Given the description of an element on the screen output the (x, y) to click on. 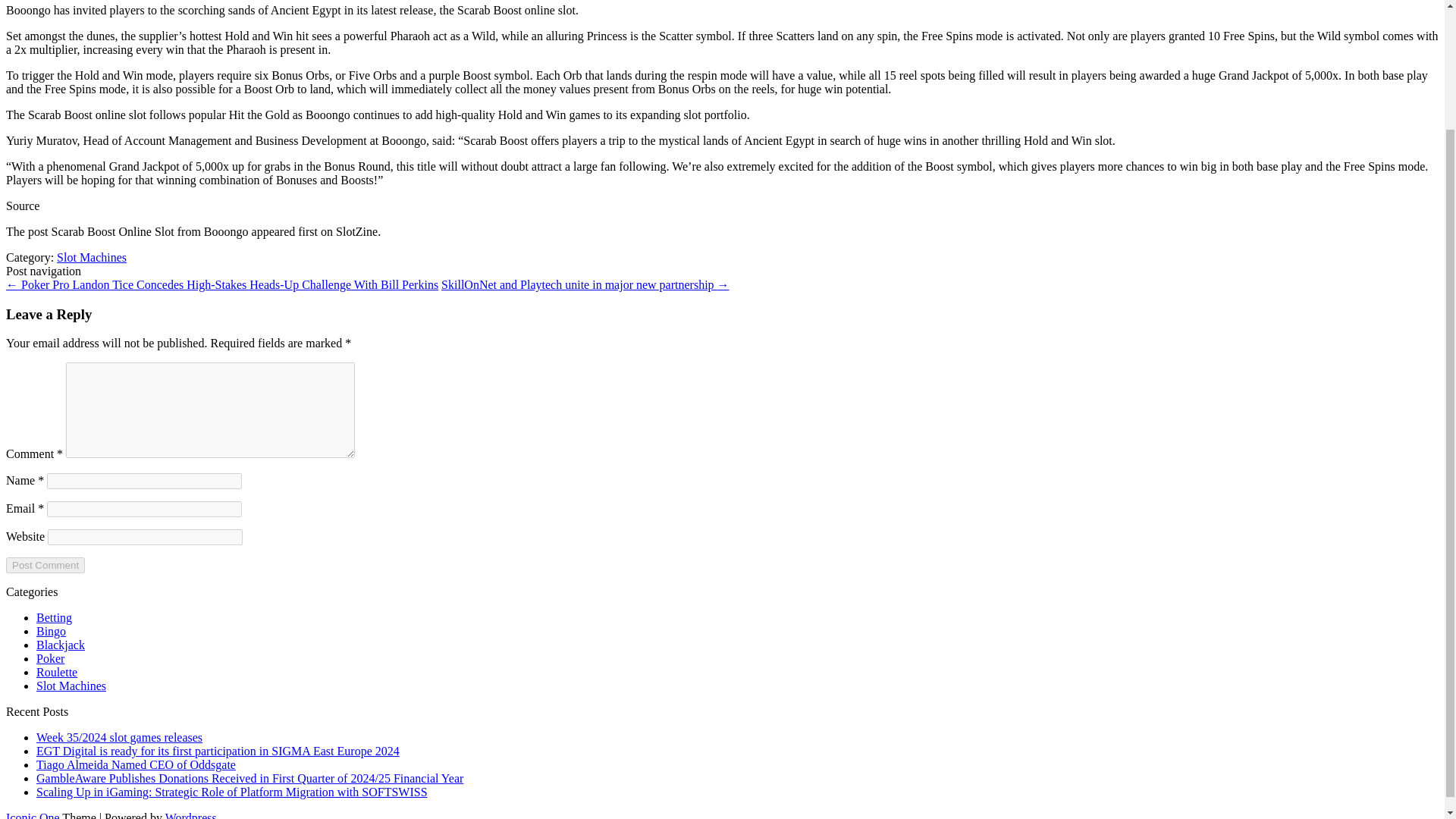
Slot Machines (91, 256)
Poker (50, 658)
Roulette (56, 671)
Post Comment (44, 565)
Bingo (50, 631)
Tiago Almeida Named CEO of Oddsgate (135, 764)
Betting (53, 617)
Post Comment (44, 565)
